Given the description of an element on the screen output the (x, y) to click on. 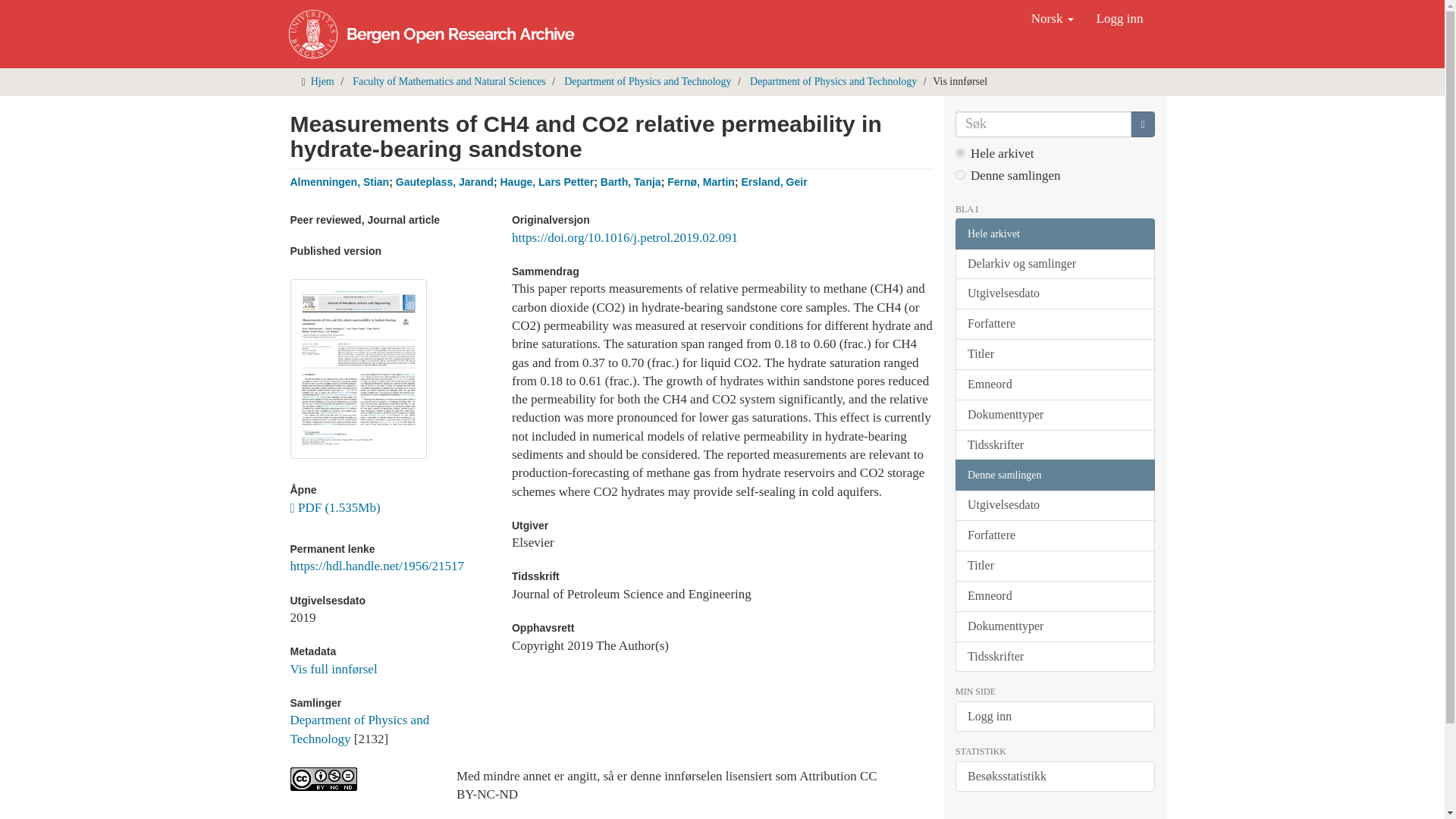
Department of Physics and Technology (833, 81)
Attribution CC BY-NC-ND (360, 779)
Almenningen, Stian (338, 182)
Department of Physics and Technology (647, 81)
Norsk  (1052, 18)
Hjem (322, 81)
Hauge, Lars Petter (546, 182)
Logg inn (1119, 18)
Faculty of Mathematics and Natural Sciences (449, 81)
Gauteplass, Jarand (444, 182)
Ersland, Geir (773, 182)
Department of Physics and Technology (359, 728)
Barth, Tanja (630, 182)
